Given the description of an element on the screen output the (x, y) to click on. 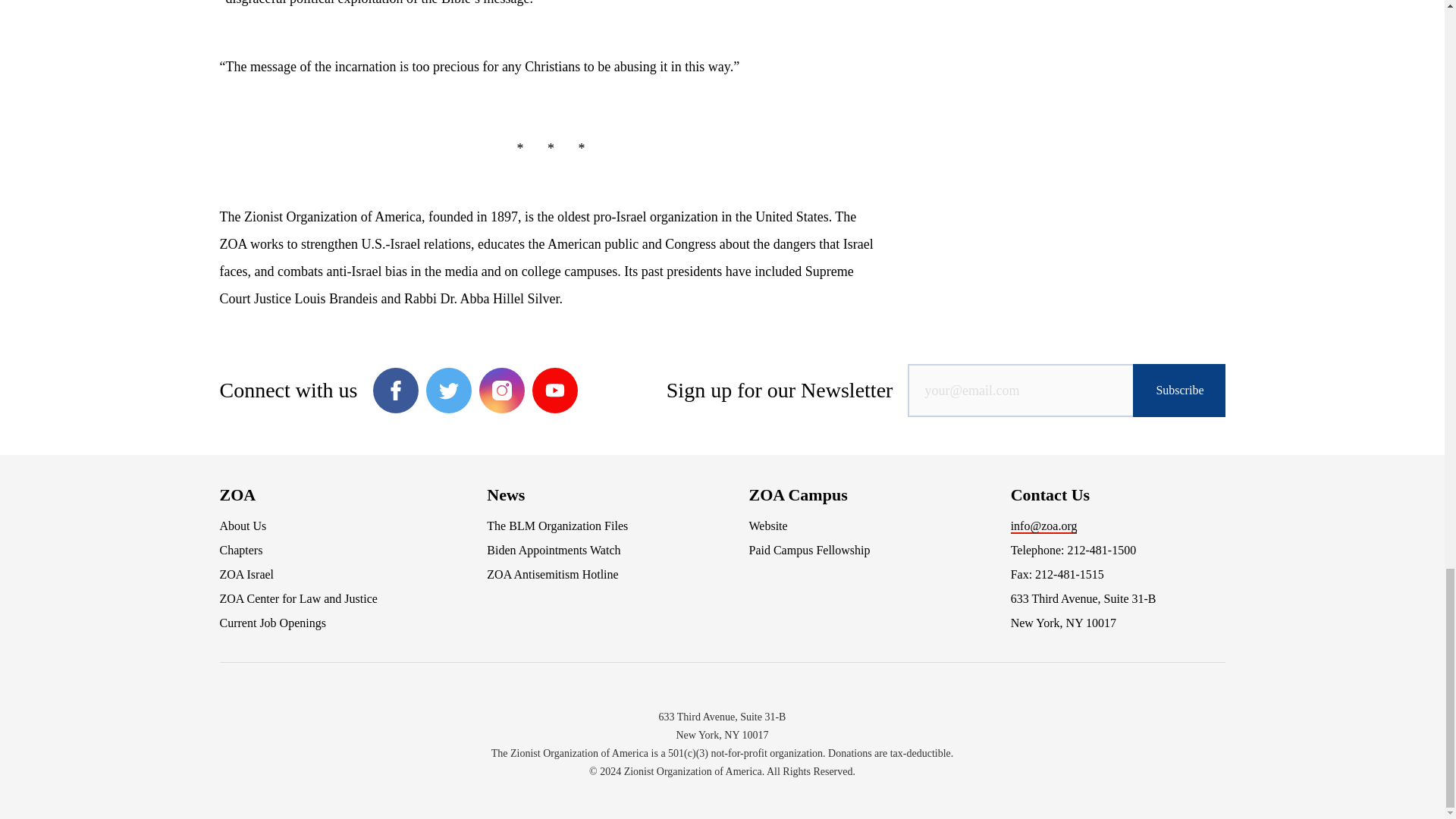
Subscribe (1178, 389)
